Given the description of an element on the screen output the (x, y) to click on. 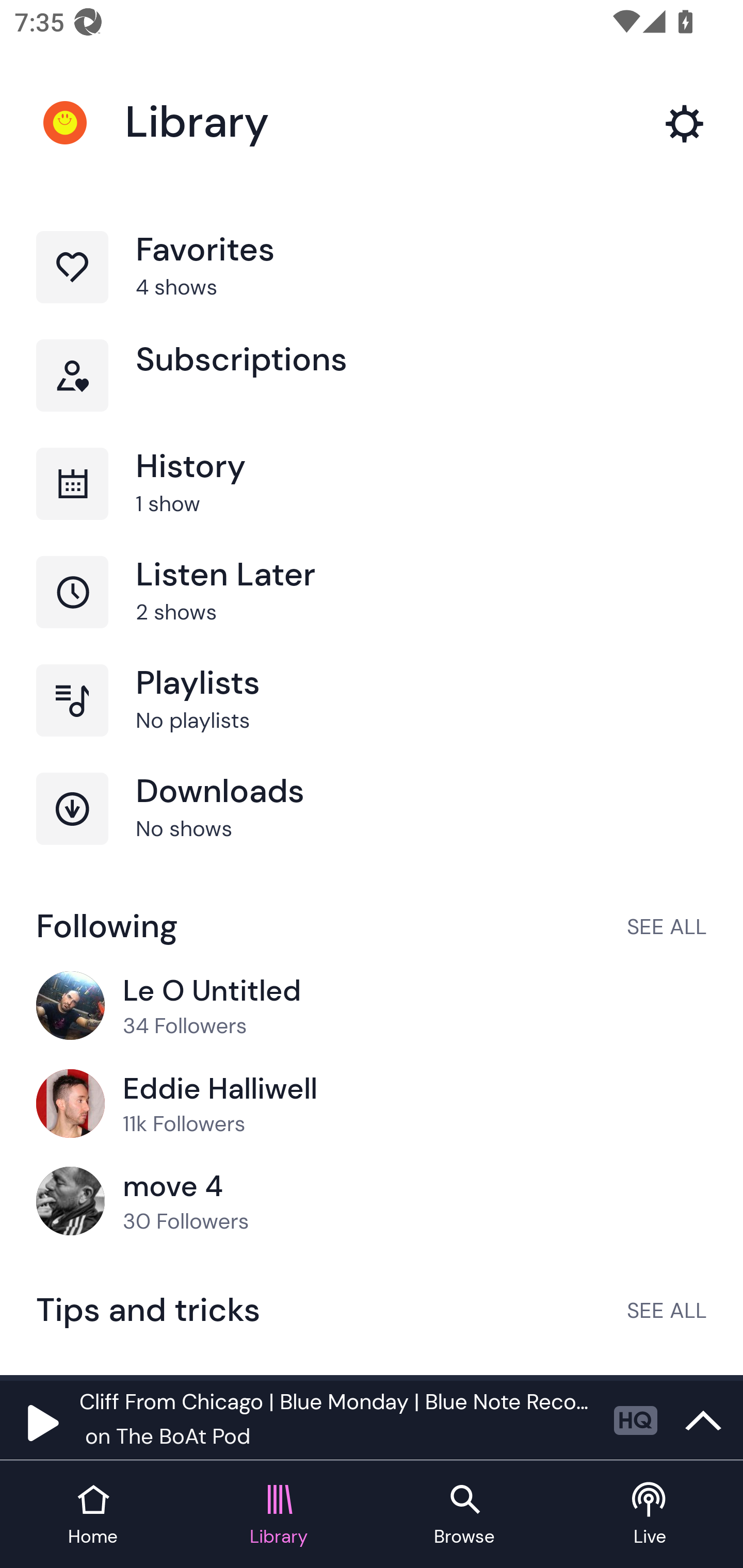
Favorites, 4 shows Favorites 4 shows (371, 284)
Subscriptions (371, 393)
History, 1 show History 1 show (371, 502)
Listen Later, 2 shows Listen Later 2 shows (371, 610)
Playlists, No playlists Playlists No playlists (371, 718)
Downloads, No shows Downloads No shows (371, 827)
SEE ALL (666, 926)
move 4, 30 Followers move 4 30 Followers (371, 1201)
SEE ALL (666, 1309)
Home tab Home (92, 1515)
Library tab Library (278, 1515)
Browse tab Browse (464, 1515)
Live tab Live (650, 1515)
